Given the description of an element on the screen output the (x, y) to click on. 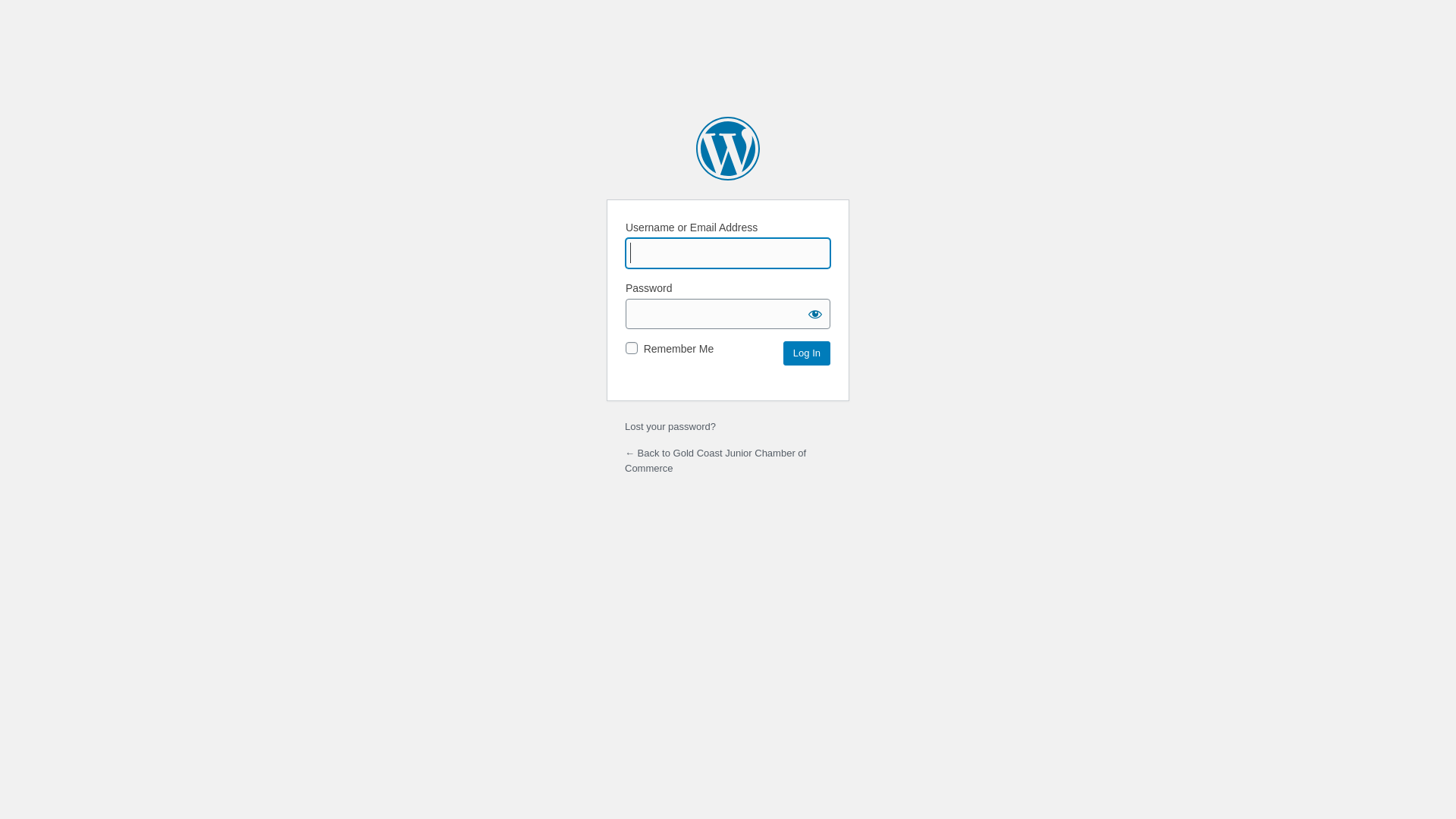
Log In Element type: text (806, 353)
Powered by WordPress Element type: text (727, 148)
Lost your password? Element type: text (669, 426)
